Given the description of an element on the screen output the (x, y) to click on. 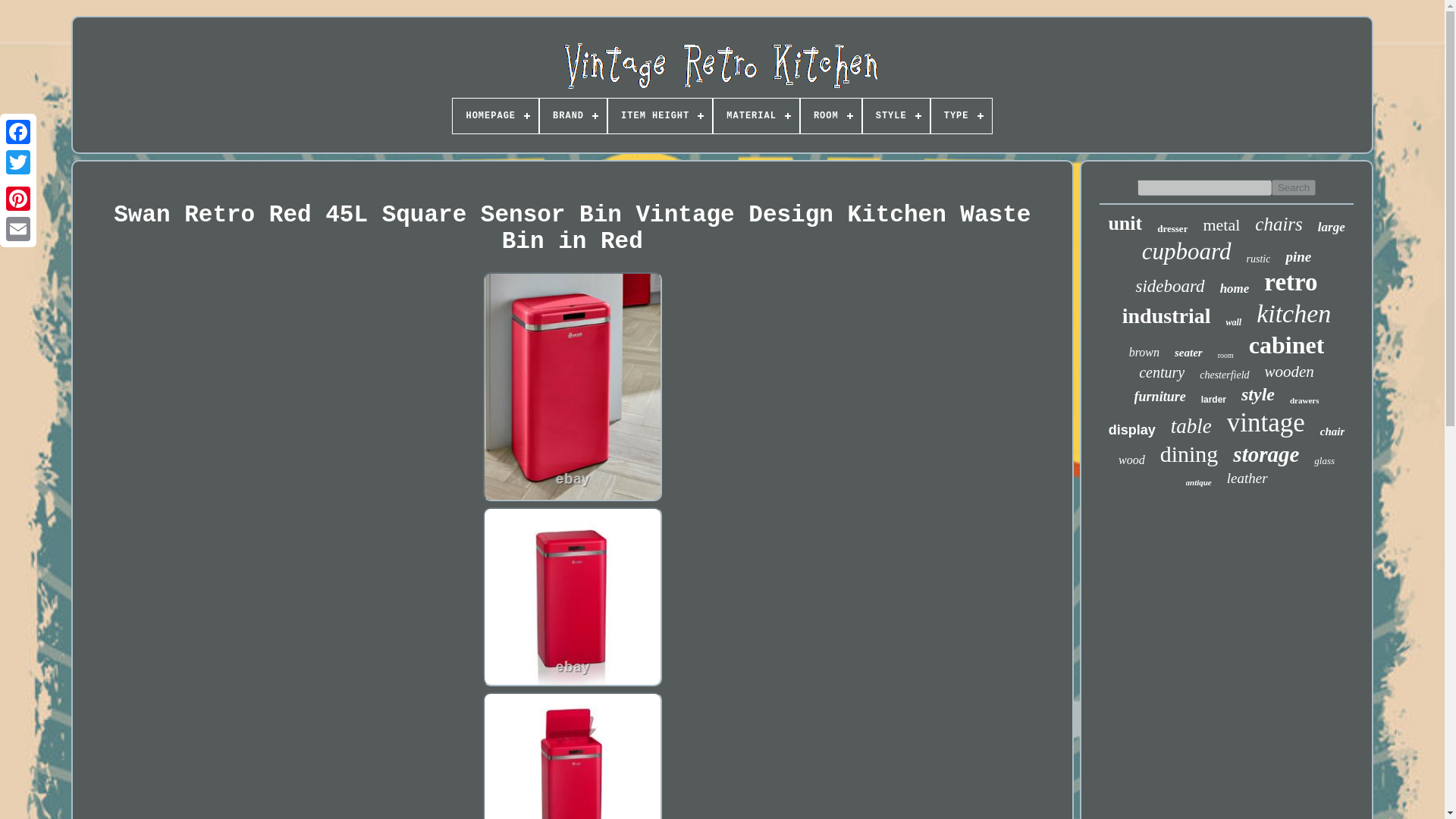
ITEM HEIGHT (659, 115)
Search (1293, 187)
HOMEPAGE (495, 115)
BRAND (573, 115)
